Given the description of an element on the screen output the (x, y) to click on. 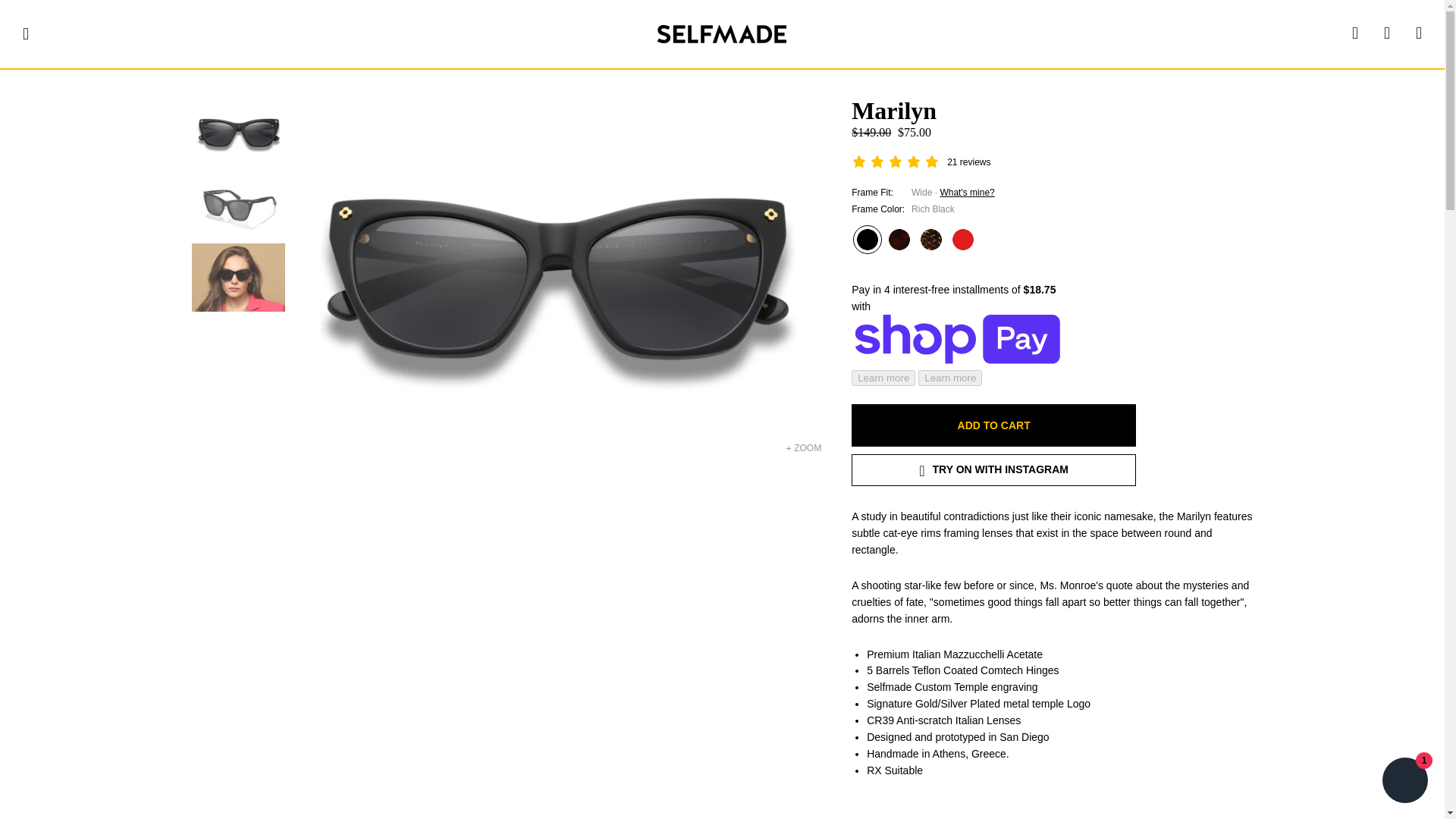
ADD TO CART (993, 425)
Rich Black (867, 239)
What's mine? (966, 192)
Shopify online store chat (1404, 781)
Lipstick (962, 239)
Russet Tortoise (899, 239)
TRY ON WITH INSTAGRAM (993, 470)
Ember (930, 239)
